Given the description of an element on the screen output the (x, y) to click on. 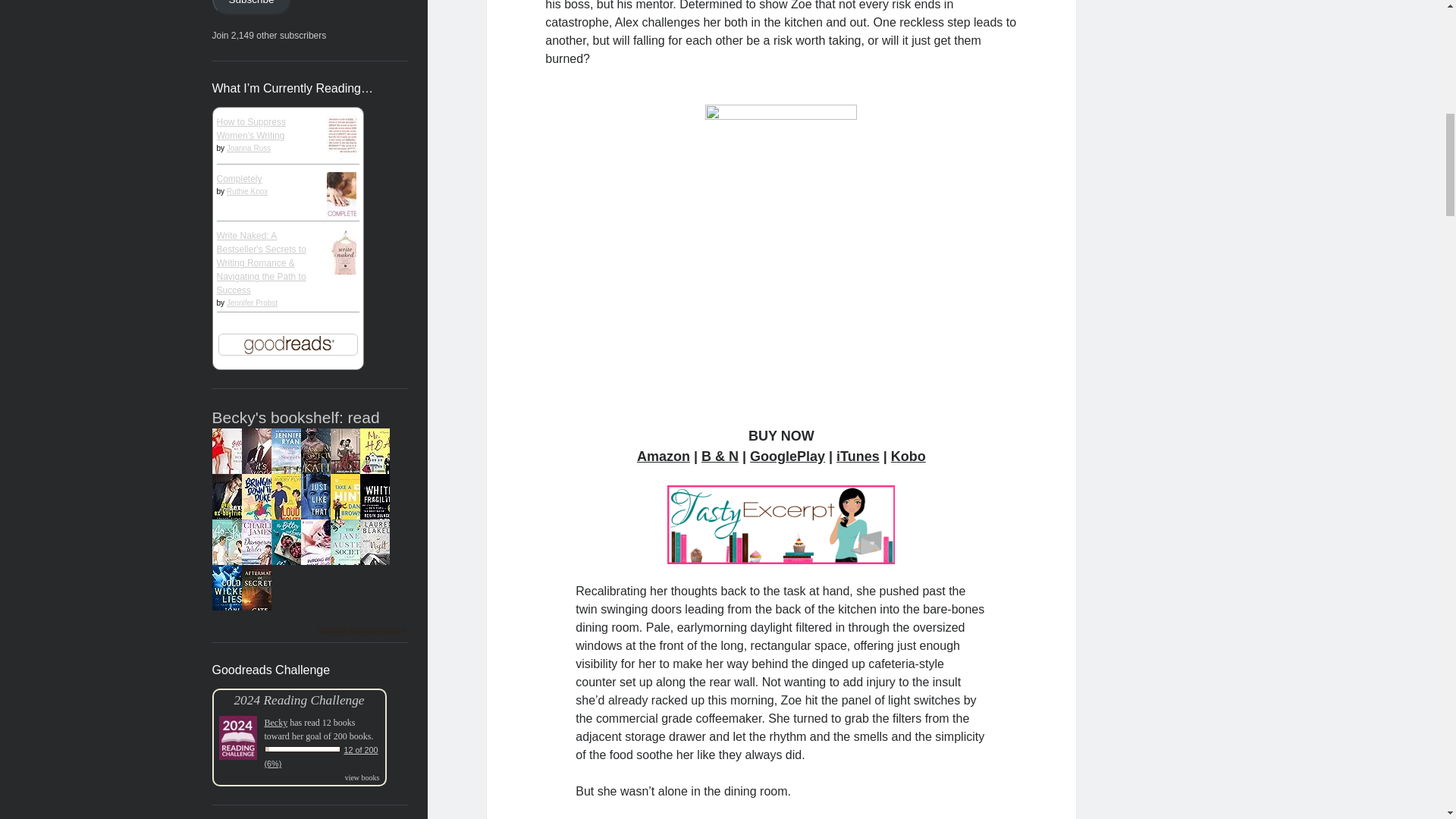
Dear Sexy Ex-Boyfriend (229, 527)
Sisters and Secrets (289, 481)
How to Suppress Women's Writing (344, 168)
Ruthie Knox (247, 191)
Subscribe (251, 7)
Becky's bookshelf: read (296, 416)
Joanna Russ (248, 148)
Jennifer Probst (252, 302)
Mr. H.O.A. (377, 481)
Completely (239, 178)
